Given the description of an element on the screen output the (x, y) to click on. 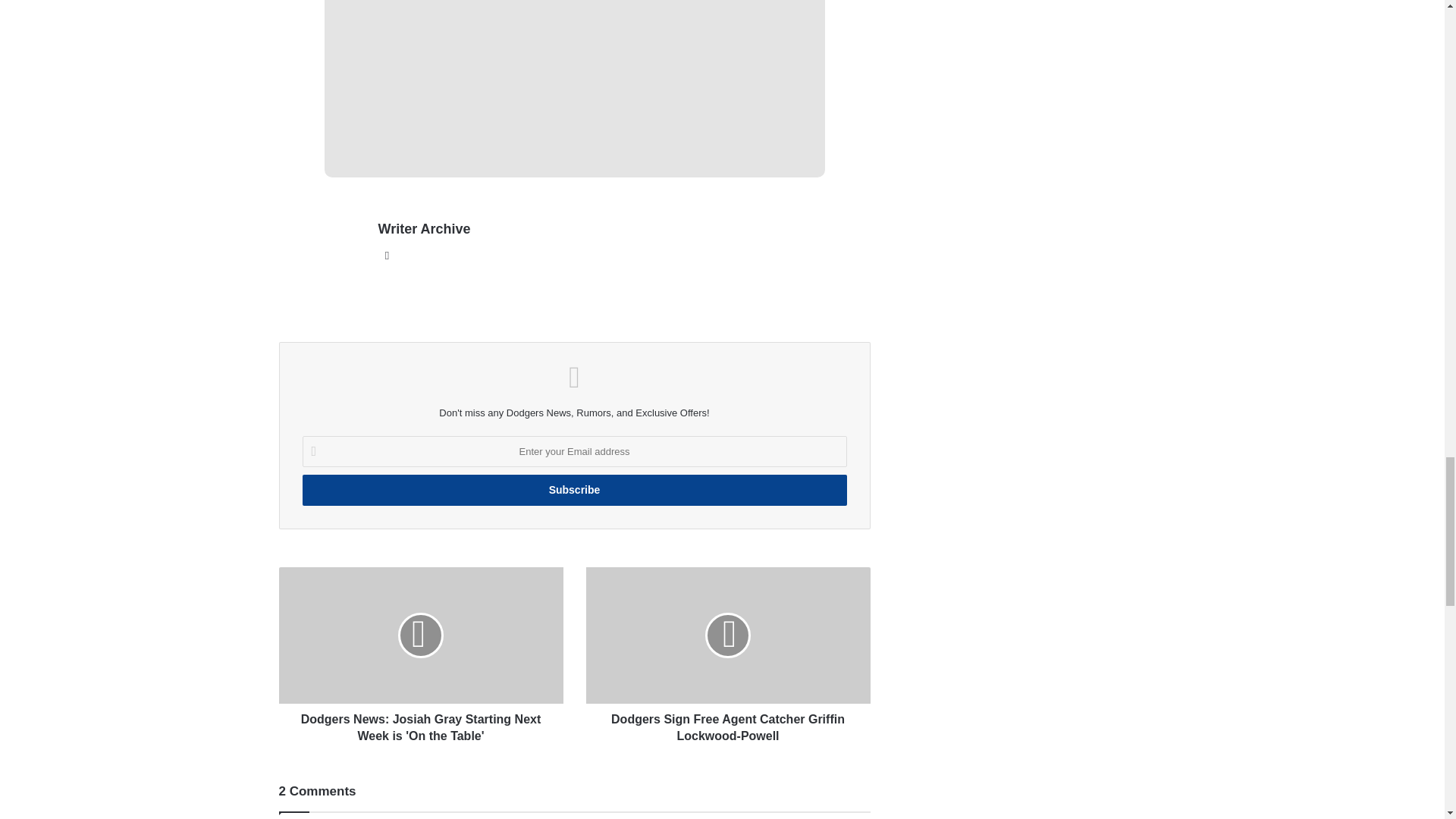
Subscribe (573, 490)
